Given the description of an element on the screen output the (x, y) to click on. 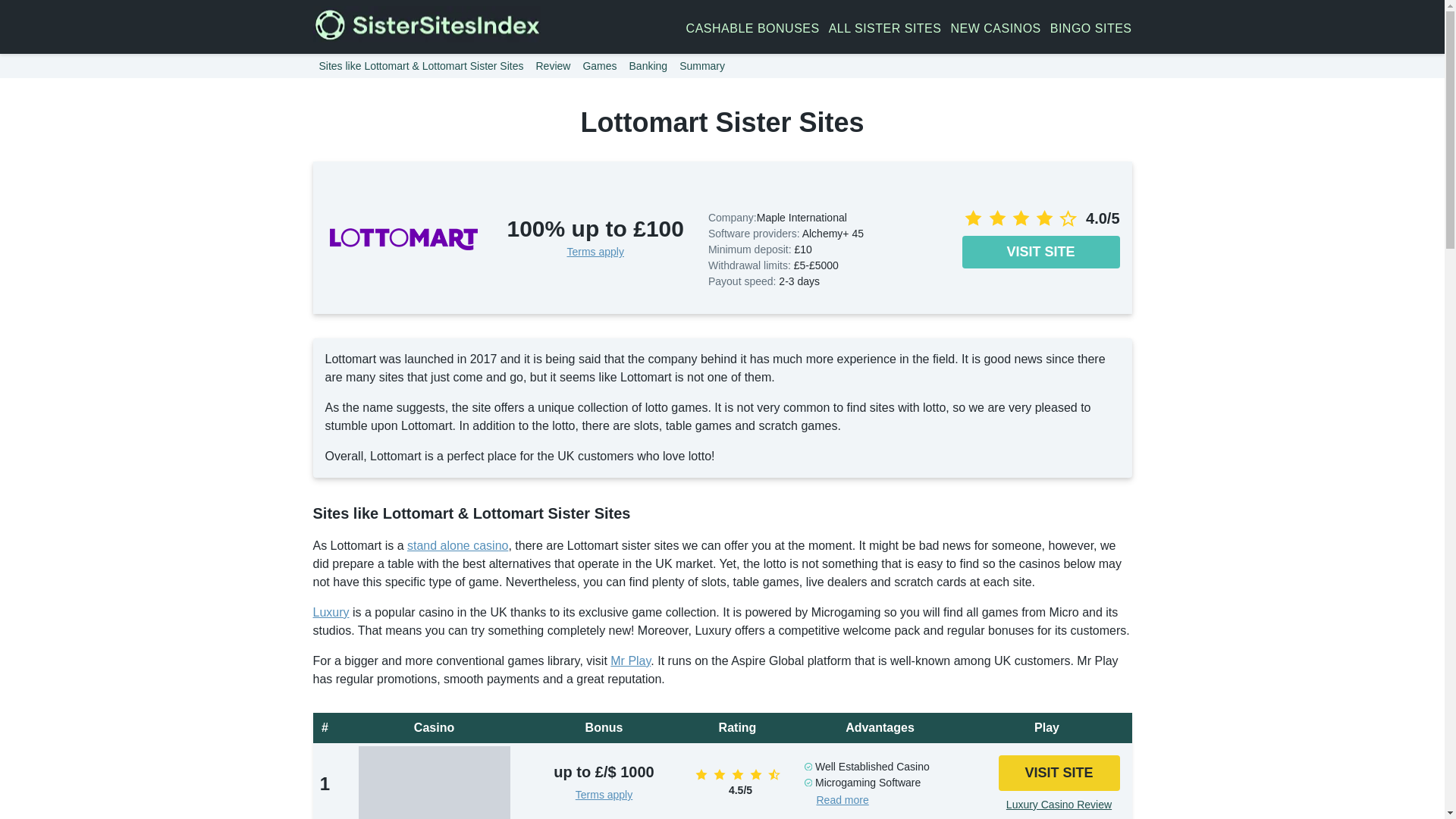
Terms apply (603, 794)
Luxury Casino Review (1058, 804)
Terms apply (594, 251)
Banking (648, 65)
Read more (841, 799)
Review (552, 65)
BINGO SITES (1090, 28)
VISIT SITE (1039, 251)
Games (599, 65)
stand alone casino (457, 545)
Mr Play (630, 660)
ALL SISTER SITES (885, 28)
Luxury (331, 612)
NEW CASINOS (995, 28)
CASHABLE BONUSES (752, 28)
